Given the description of an element on the screen output the (x, y) to click on. 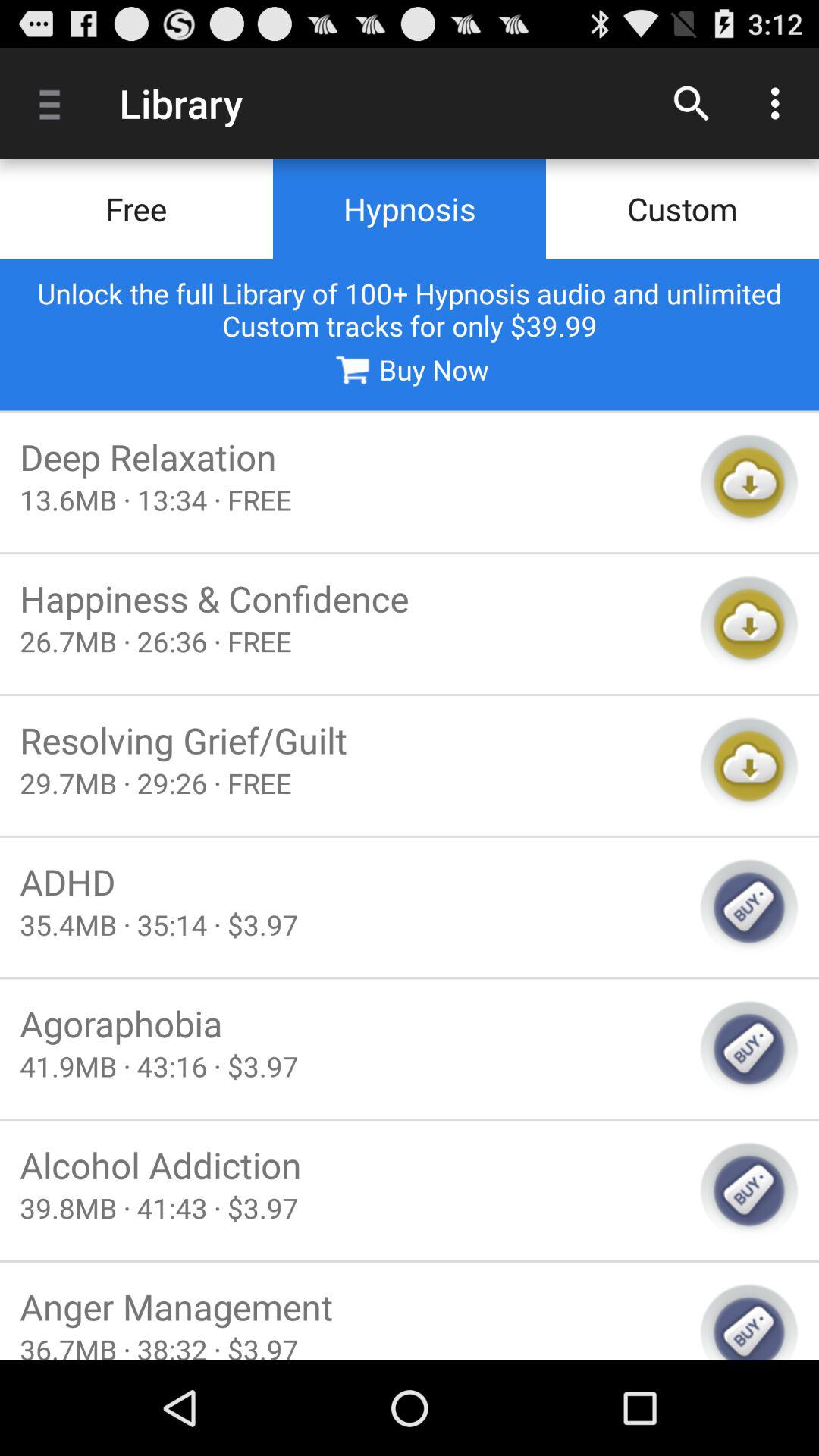
scroll until adhd icon (349, 881)
